Given the description of an element on the screen output the (x, y) to click on. 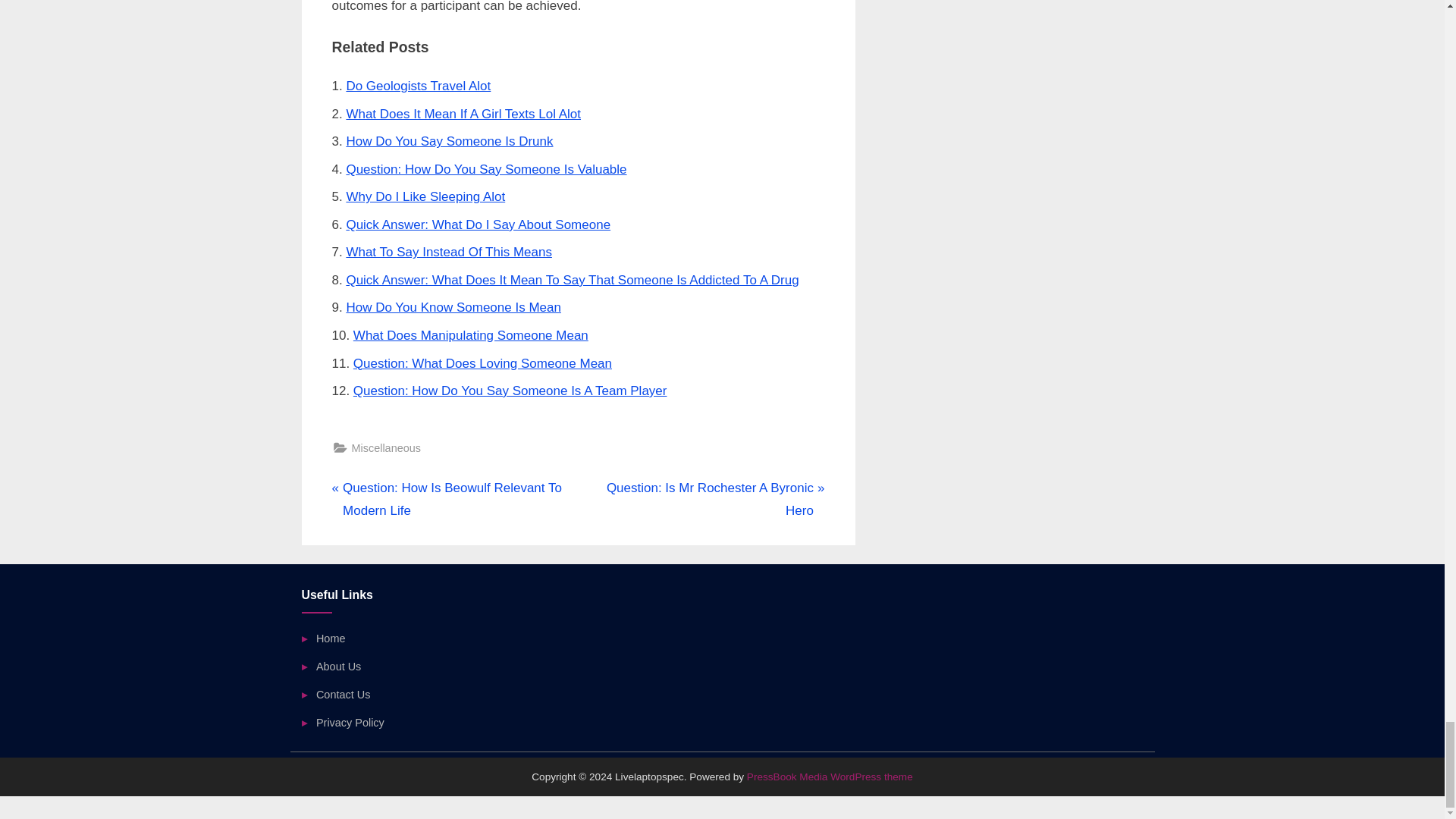
What To Say Instead Of This Means (448, 251)
Do Geologists Travel Alot (418, 85)
Quick Answer: What Do I Say About Someone (478, 224)
Quick Answer: What Do I Say About Someone (478, 224)
What Does Manipulating Someone Mean (470, 335)
Miscellaneous (386, 447)
Question: How Do You Say Someone Is Valuable (486, 169)
Why Do I Like Sleeping Alot (425, 196)
How Do You Say Someone Is Drunk (449, 141)
Question: What Does Loving Someone Mean (482, 363)
What To Say Instead Of This Means (448, 251)
Question: What Does Loving Someone Mean (482, 363)
How Do You Know Someone Is Mean (453, 307)
Why Do I Like Sleeping Alot (425, 196)
